Given the description of an element on the screen output the (x, y) to click on. 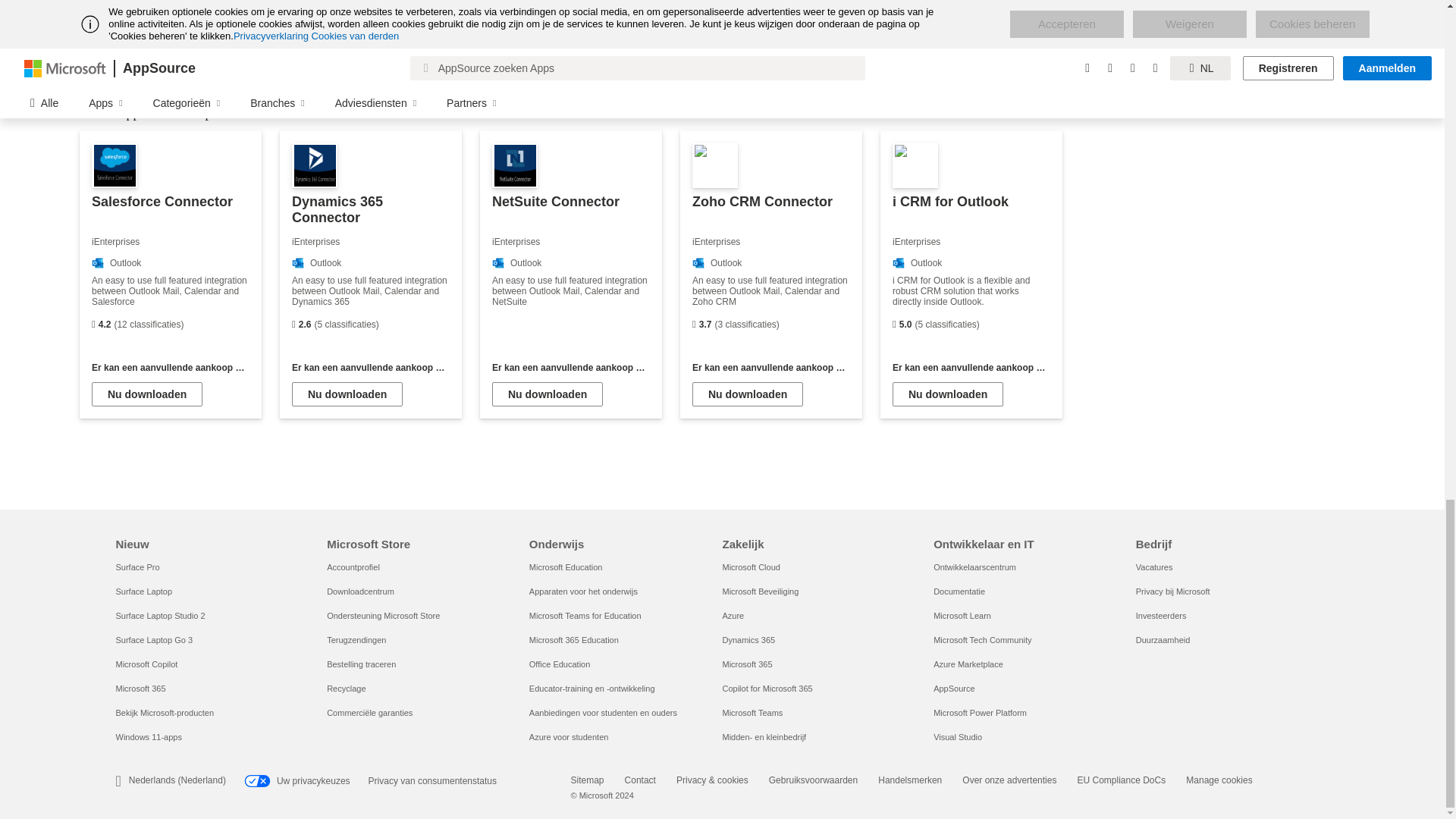
Er kan een aanvullende aankoop vereist zijn (771, 367)
Er kan een aanvullende aankoop vereist zijn (169, 367)
Er kan een aanvullende aankoop vereist zijn (370, 367)
Nu downloaden (748, 394)
Er kan een aanvullende aankoop vereist zijn (970, 367)
Er kan een aanvullende aankoop vereist zijn (570, 367)
Nu downloaden (347, 394)
Nu downloaden (146, 394)
Nu downloaden (947, 394)
Nu downloaden (547, 394)
